Given the description of an element on the screen output the (x, y) to click on. 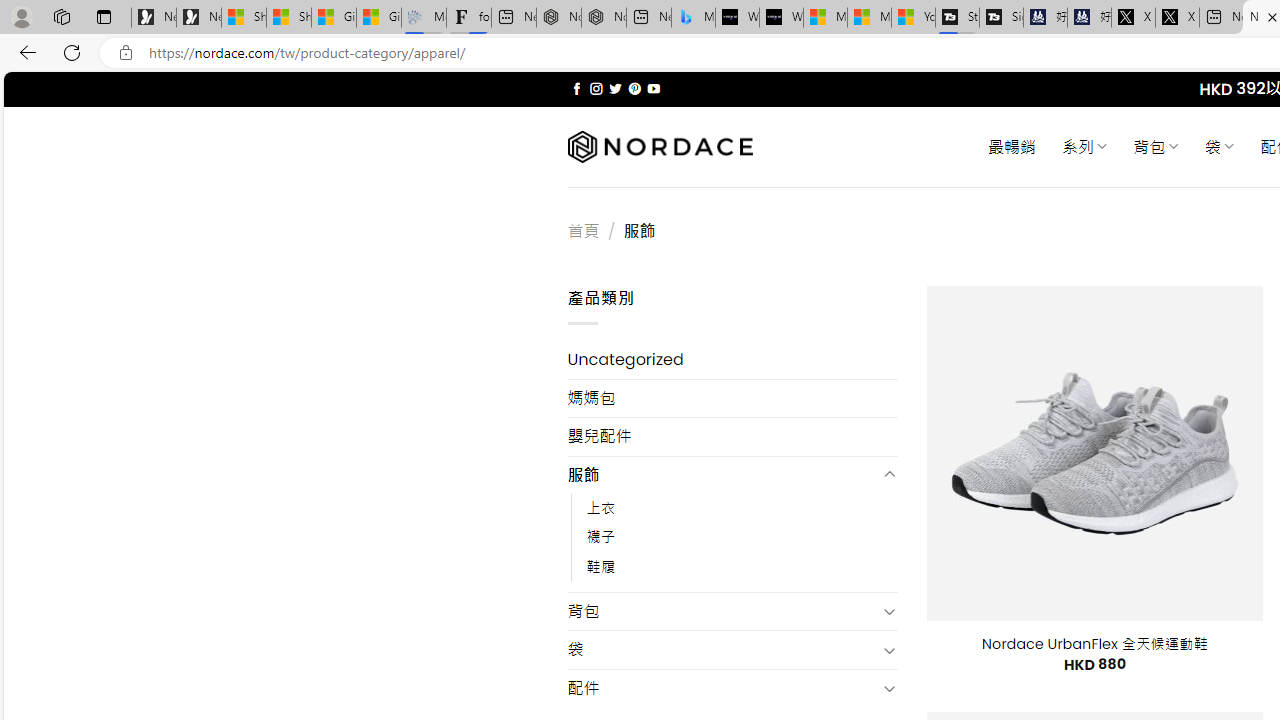
Uncategorized (732, 359)
